Given the description of an element on the screen output the (x, y) to click on. 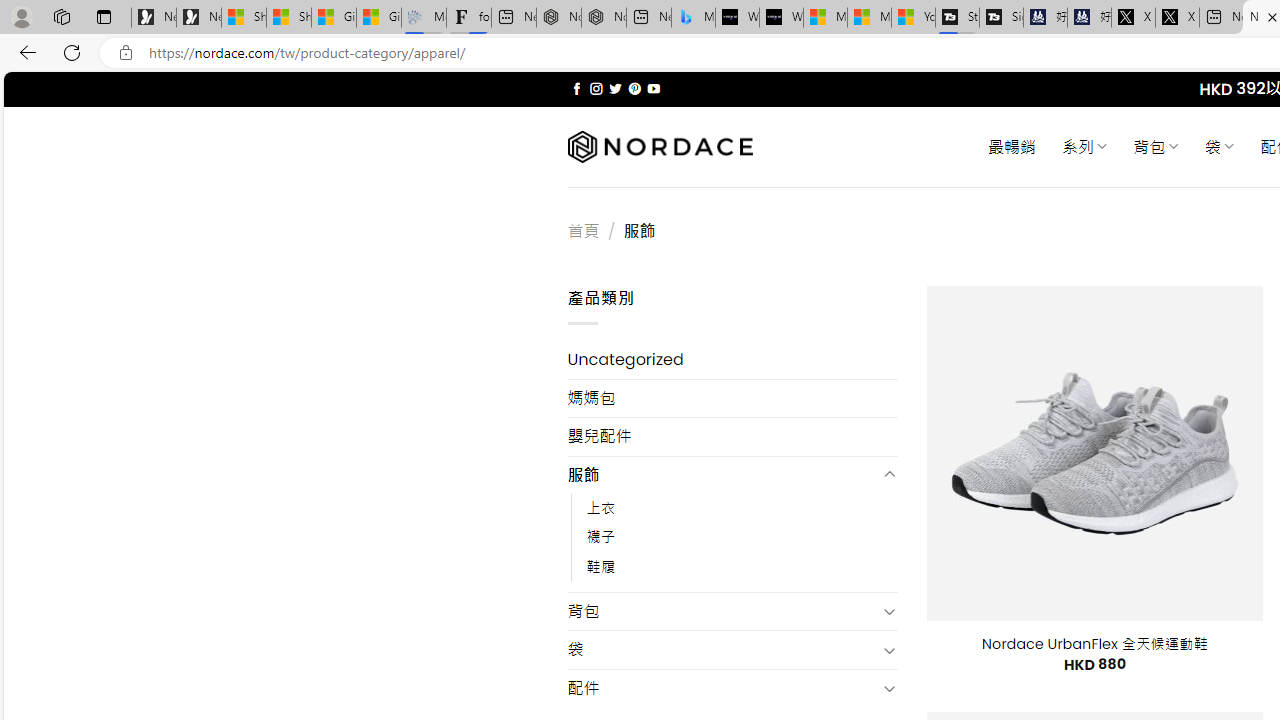
Uncategorized (732, 359)
